Given the description of an element on the screen output the (x, y) to click on. 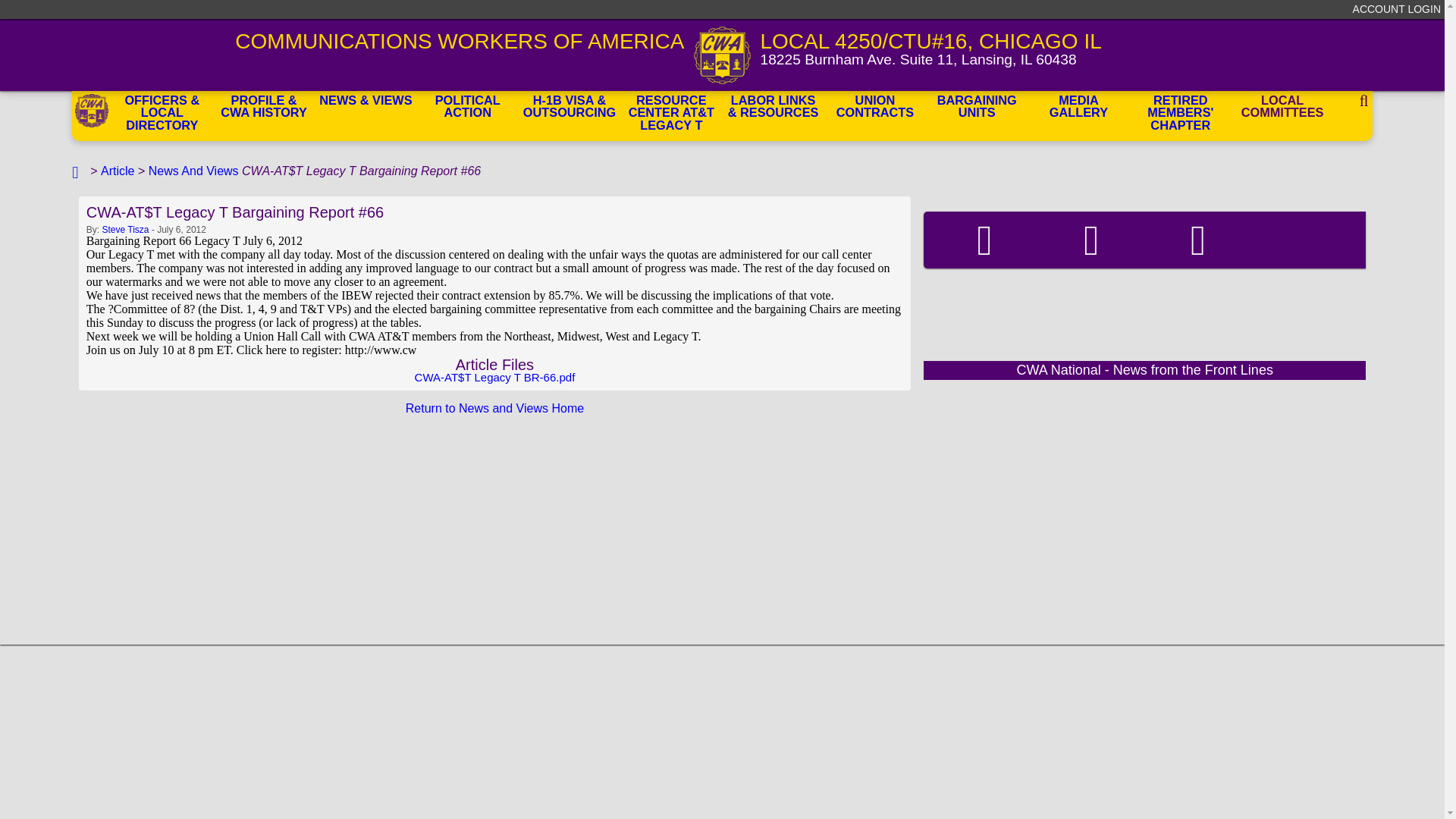
Union Contracts (875, 108)
RETIRED MEMBERS' CHAPTER (1180, 108)
Return to News and Views Home (494, 408)
LOCAL COMMITTEES (1282, 108)
CWA Officers (162, 108)
News And Views (193, 170)
Article (116, 170)
Steve Tisza (124, 229)
POLITICAL ACTION (467, 108)
Communications Workers of America Logo (722, 55)
